Given the description of an element on the screen output the (x, y) to click on. 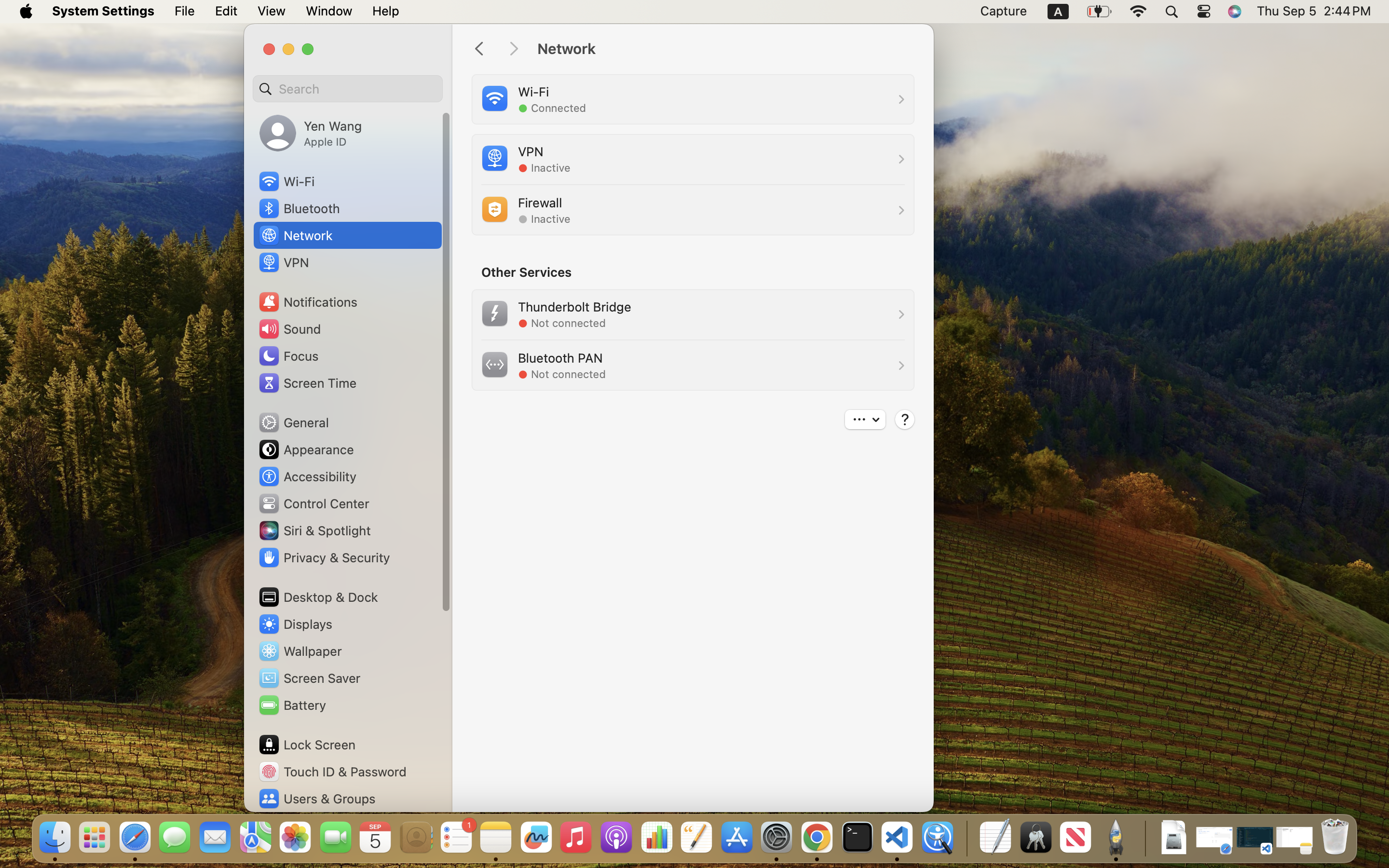
Touch ID & Password Element type: AXStaticText (332, 771)
0.4285714328289032 Element type: AXDockItem (965, 837)
Users & Groups Element type: AXStaticText (316, 798)
General Element type: AXStaticText (292, 422)
Yen Wang, Apple ID Element type: AXStaticText (310, 132)
